Given the description of an element on the screen output the (x, y) to click on. 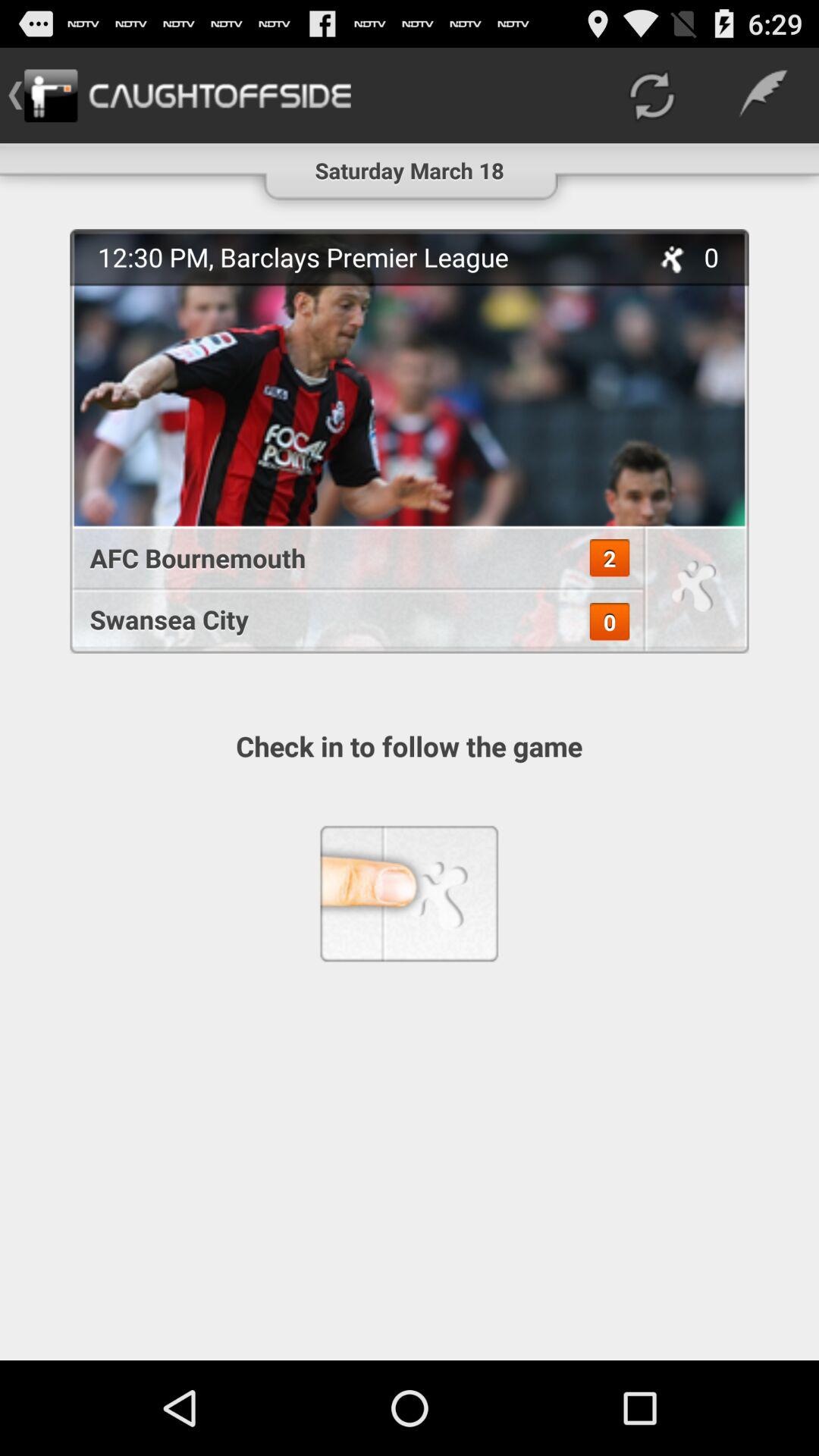
press the saturday march 18 item (409, 164)
